Given the description of an element on the screen output the (x, y) to click on. 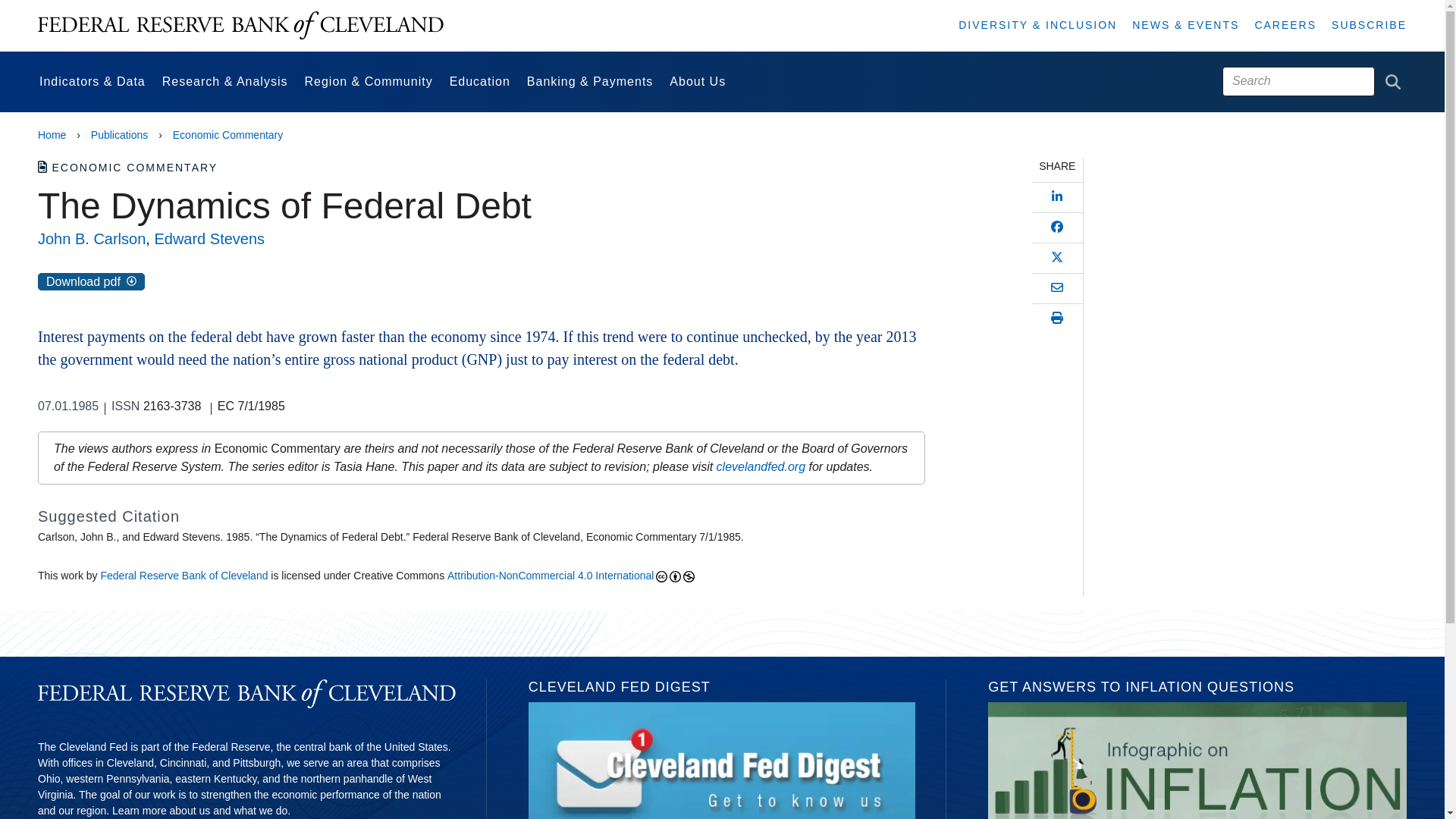
Federal Reserve Bank of Cleveland Home Page (240, 25)
SUBSCRIBE (1369, 24)
CAREERS (1284, 24)
